Given the description of an element on the screen output the (x, y) to click on. 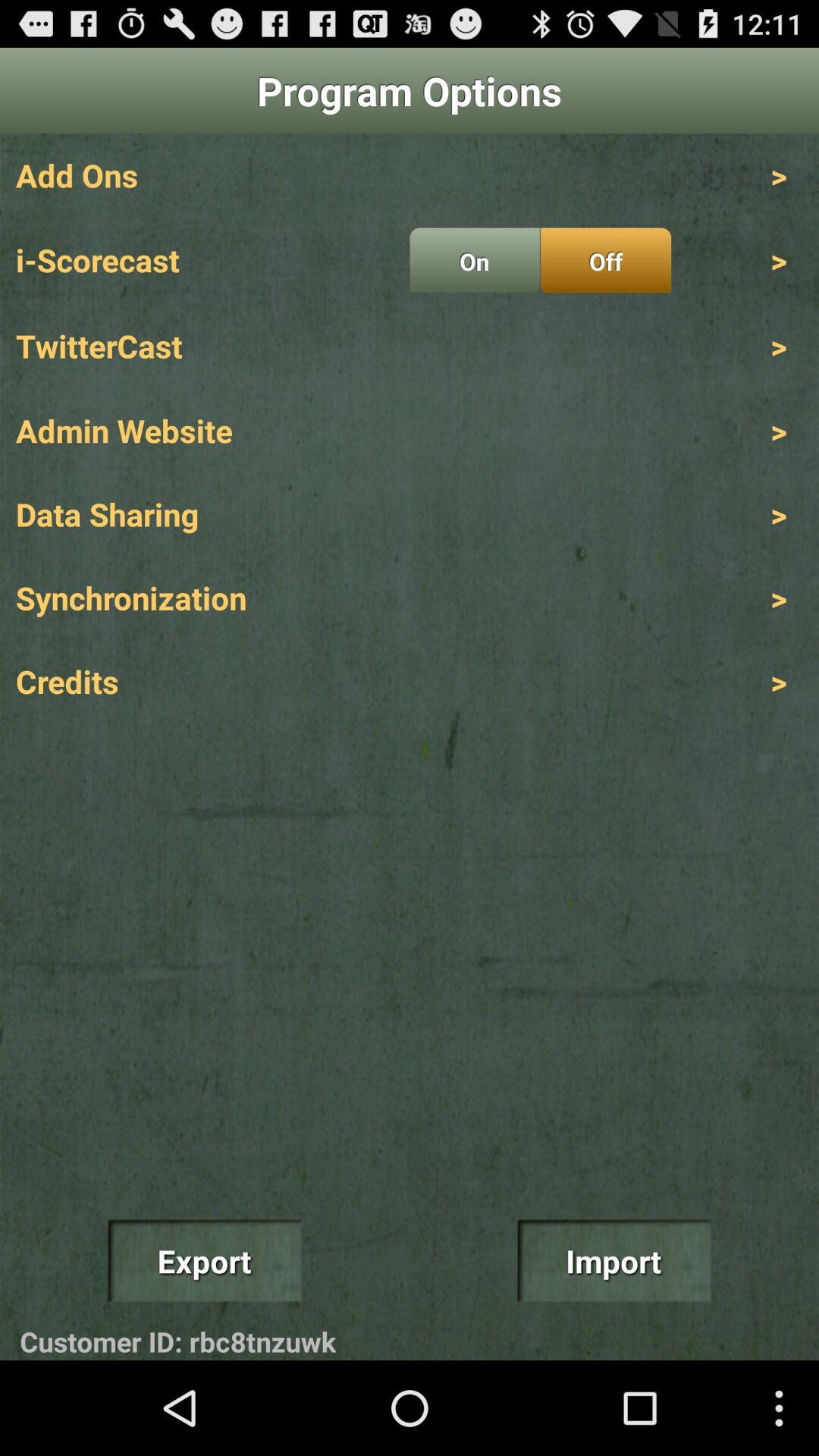
turn on the off icon (605, 259)
